Given the description of an element on the screen output the (x, y) to click on. 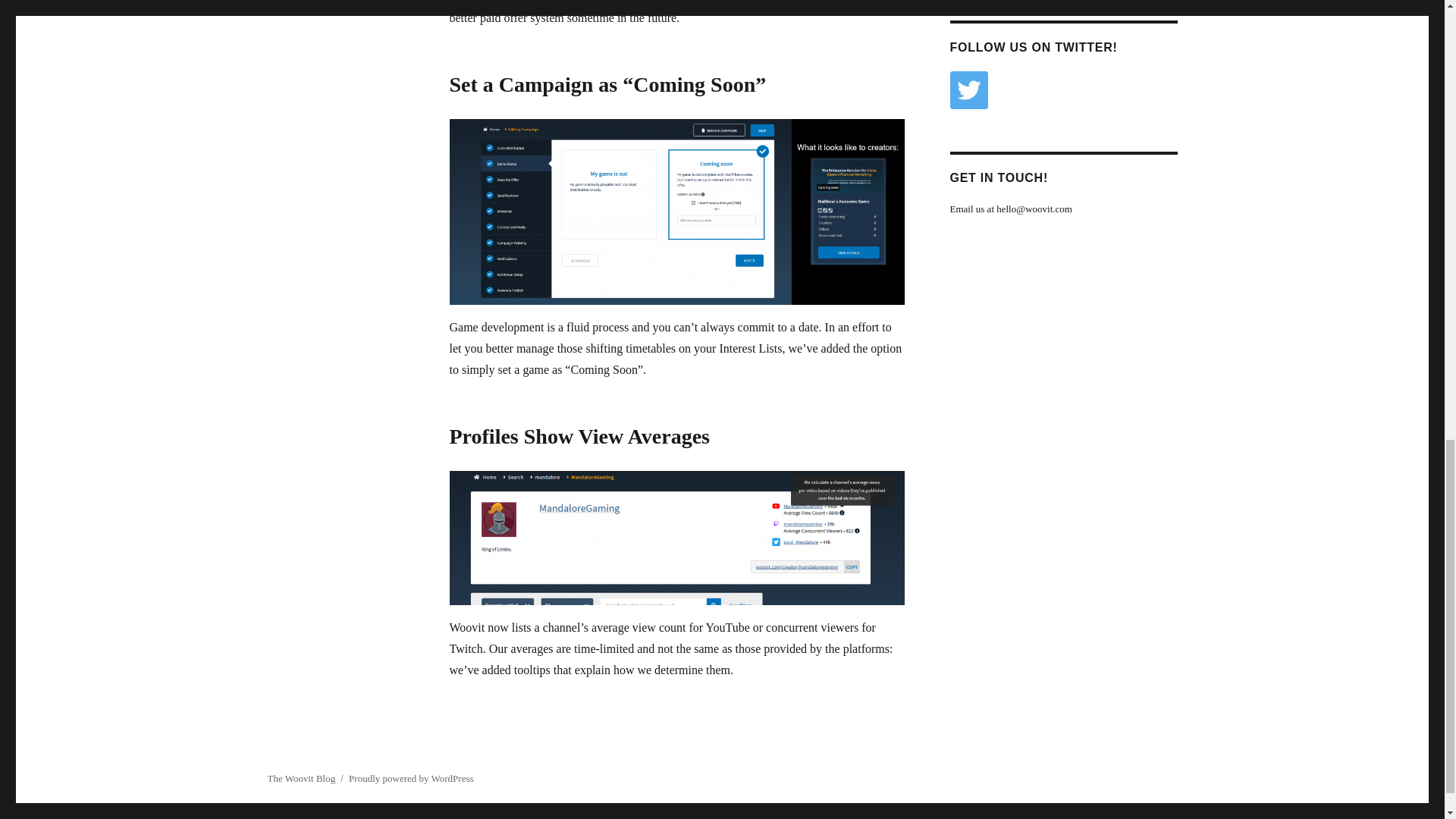
The Woovit Blog (300, 778)
Proudly powered by WordPress (411, 778)
